Given the description of an element on the screen output the (x, y) to click on. 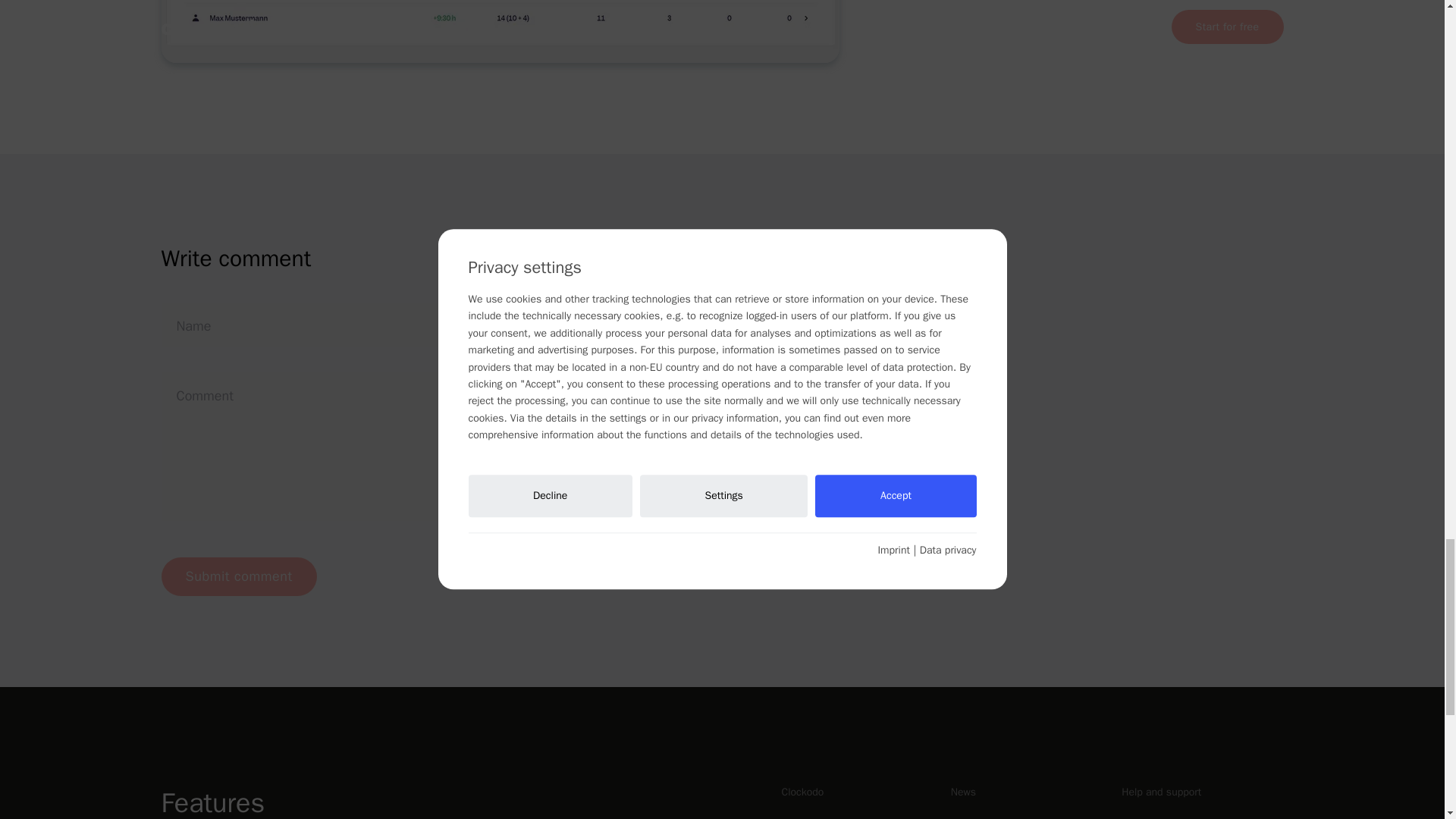
Submit comment (237, 576)
Features (289, 801)
